Given the description of an element on the screen output the (x, y) to click on. 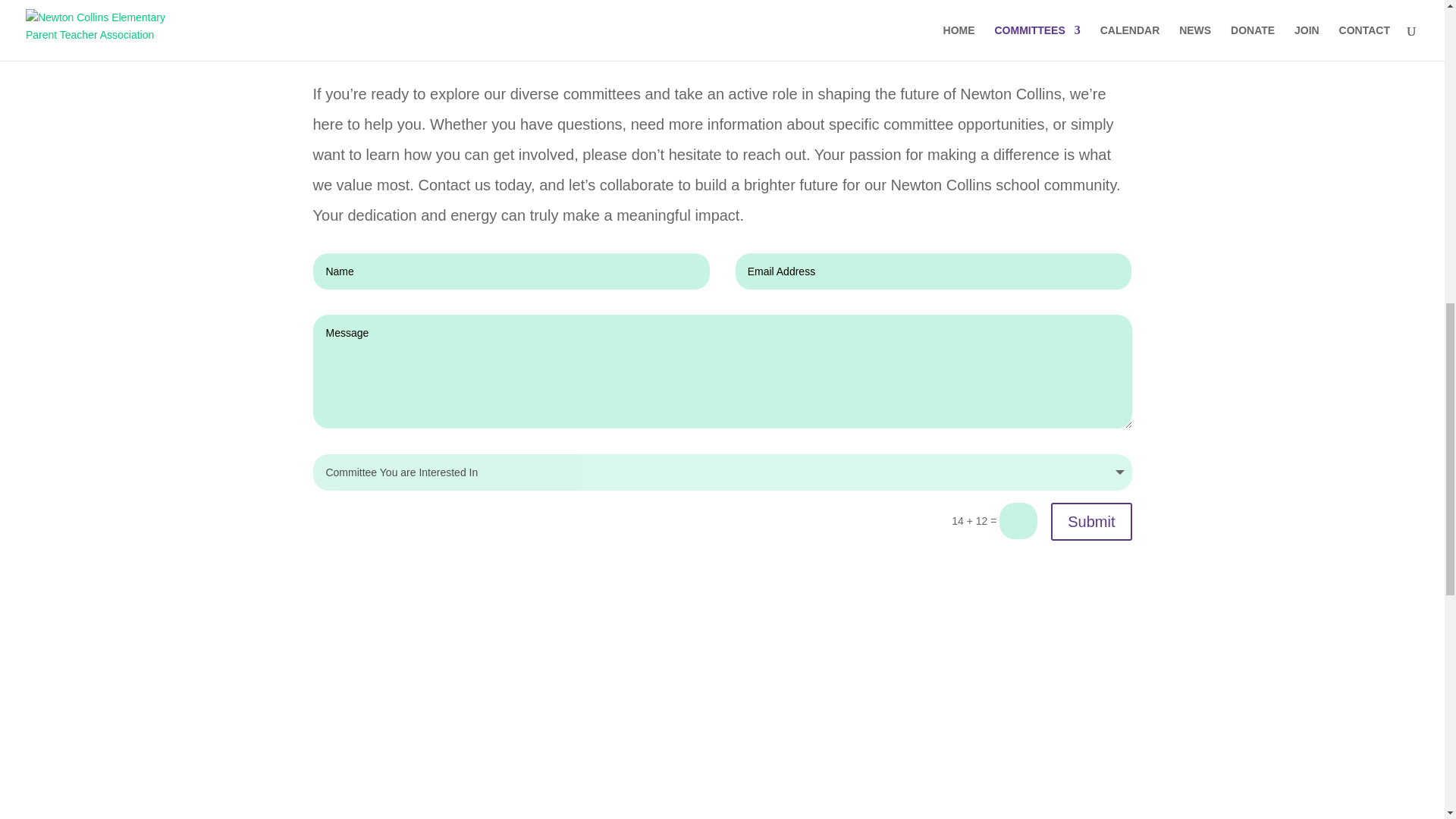
Parent Involvement and Support (557, 3)
All (334, 3)
Submit (1091, 521)
Communications (410, 3)
